Given the description of an element on the screen output the (x, y) to click on. 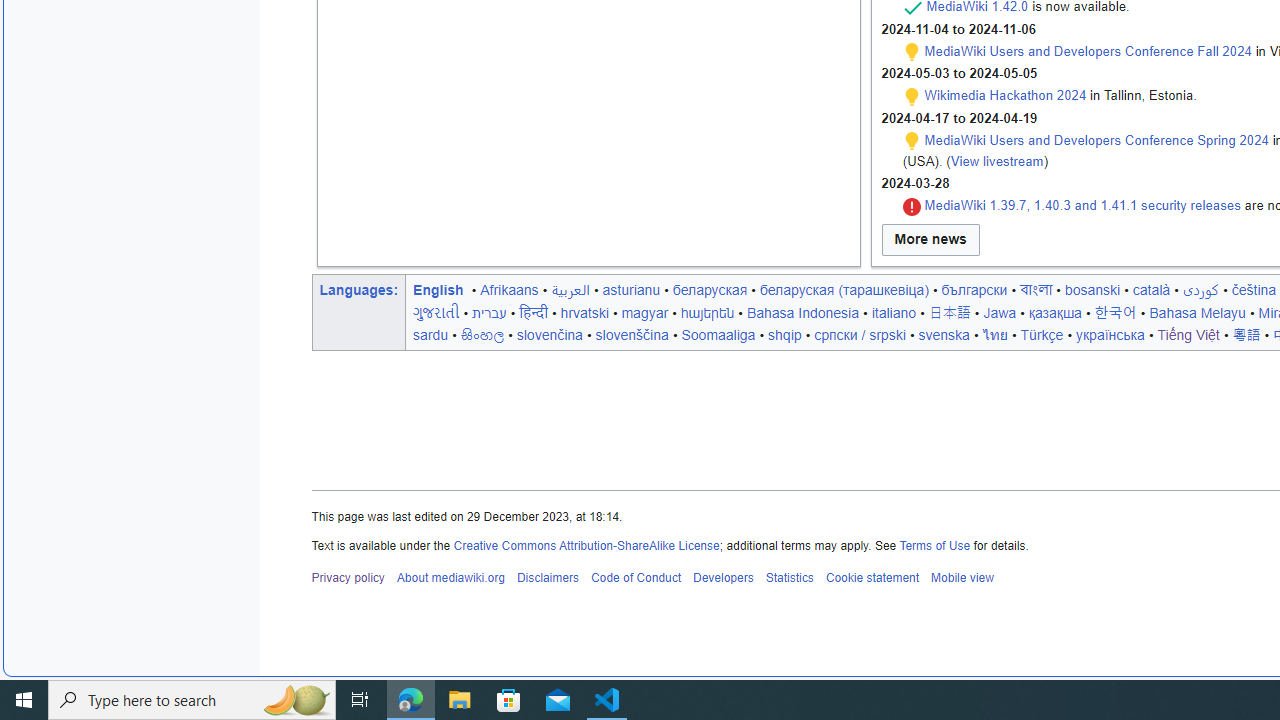
sardu (431, 334)
Developers (722, 578)
Code of Conduct (635, 578)
Terms of Use (934, 544)
